Given the description of an element on the screen output the (x, y) to click on. 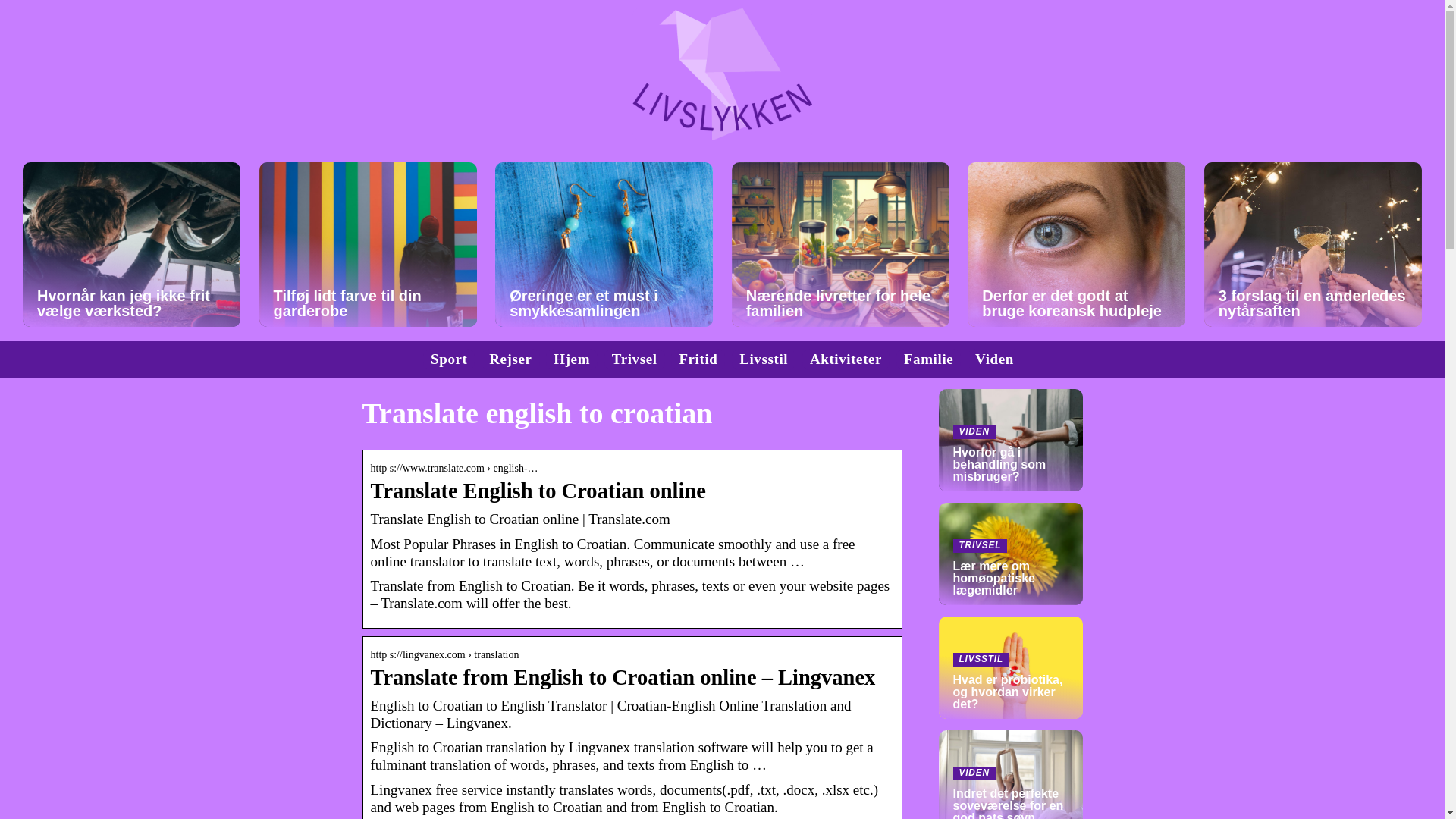
Aktiviteter (845, 358)
Livsstil (763, 358)
Familie (928, 358)
Viden (994, 358)
Rejser (1011, 667)
Sport (510, 358)
Fritid (448, 358)
Trivsel (697, 358)
Hjem (634, 358)
